Given the description of an element on the screen output the (x, y) to click on. 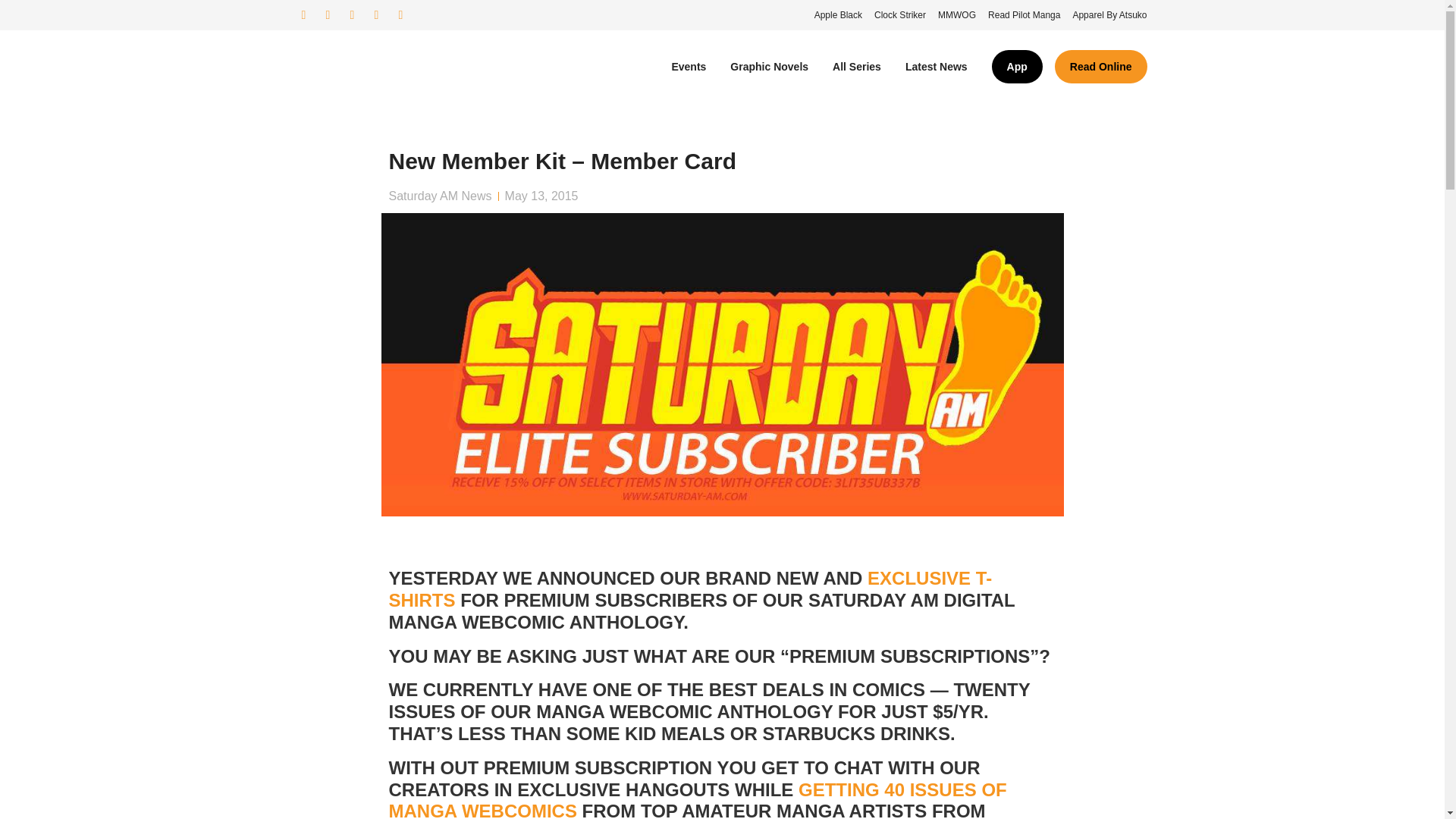
Read Pilot Manga (1023, 14)
MMWOG (956, 14)
All Series (856, 66)
Graphic Novels (769, 66)
App (1016, 66)
Apple Black (837, 14)
Events (688, 66)
EXCLUSIVE T-SHIRTS (689, 589)
Apparel By Atsuko (1109, 14)
Latest News (936, 66)
GETTING 40 ISSUES OF MANGA WEBCOMICS (697, 799)
Saturday AM News (440, 195)
Clock Striker (900, 14)
Read Online (1100, 66)
